Given the description of an element on the screen output the (x, y) to click on. 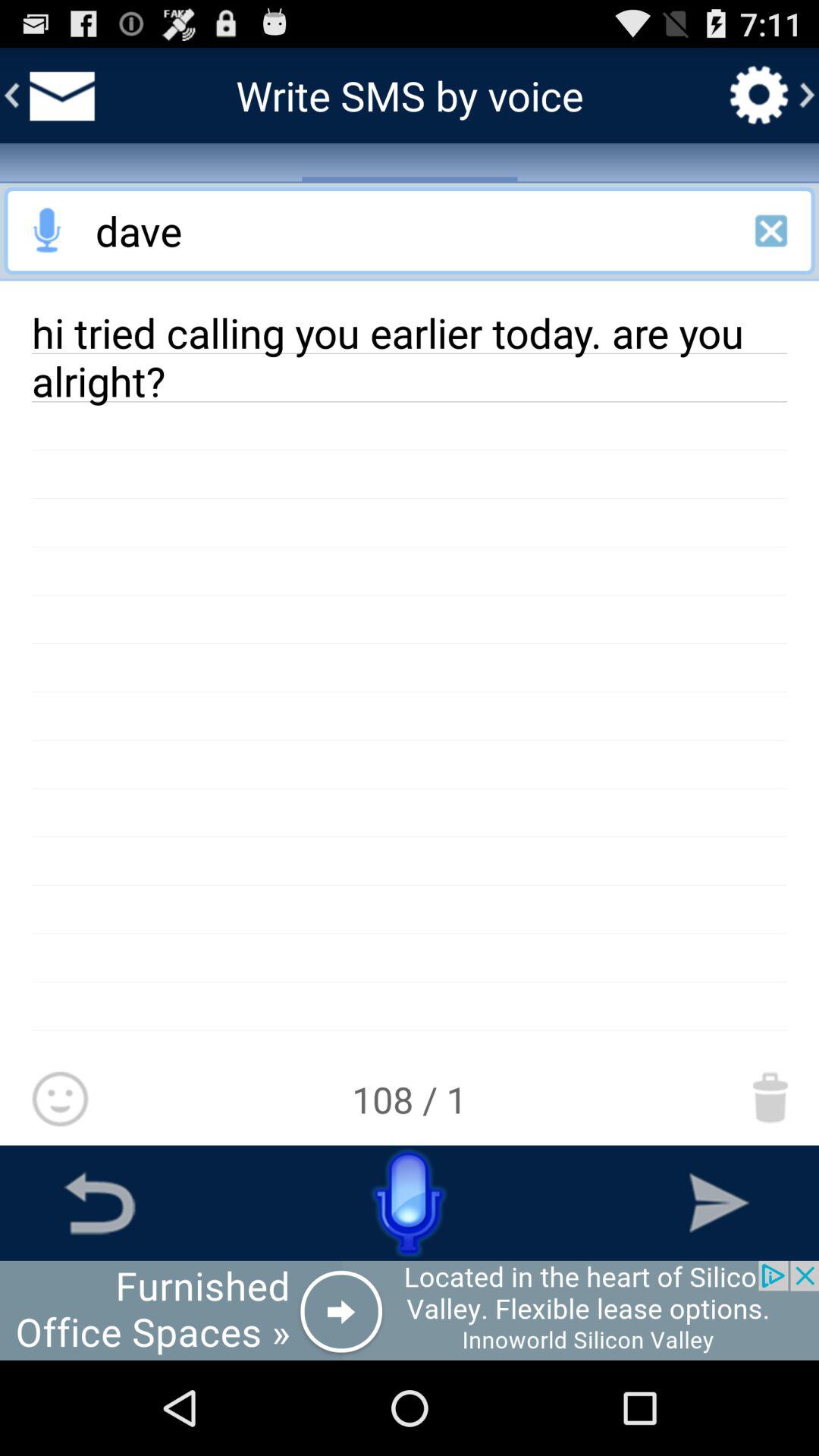
cancel this search (771, 230)
